Given the description of an element on the screen output the (x, y) to click on. 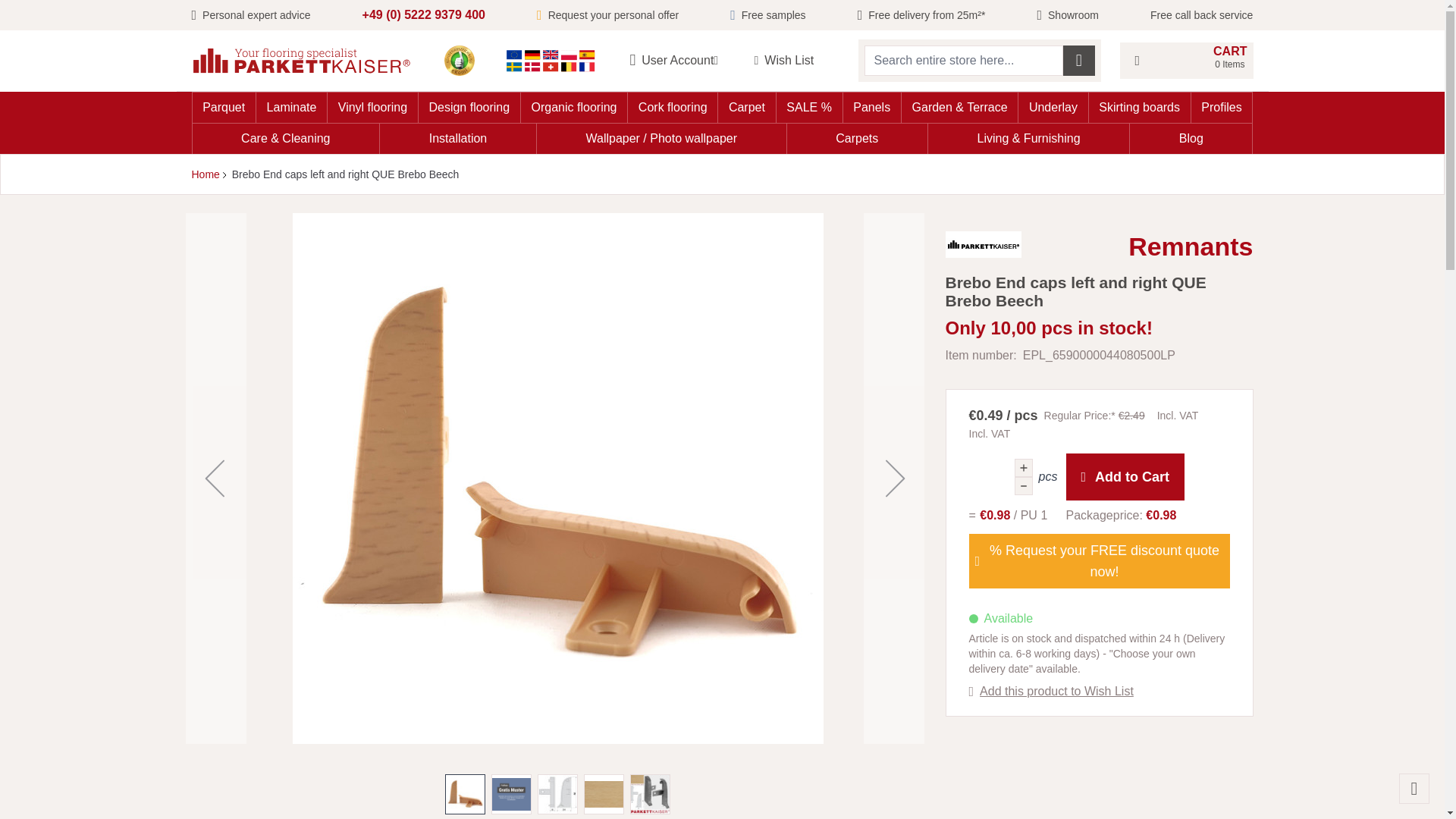
Free samples (767, 15)
Personal expert advice (250, 15)
User Account (678, 60)
Wish List (1185, 60)
Showroom (796, 60)
Request your personal offer (1067, 15)
Free call back service (607, 15)
